Given the description of an element on the screen output the (x, y) to click on. 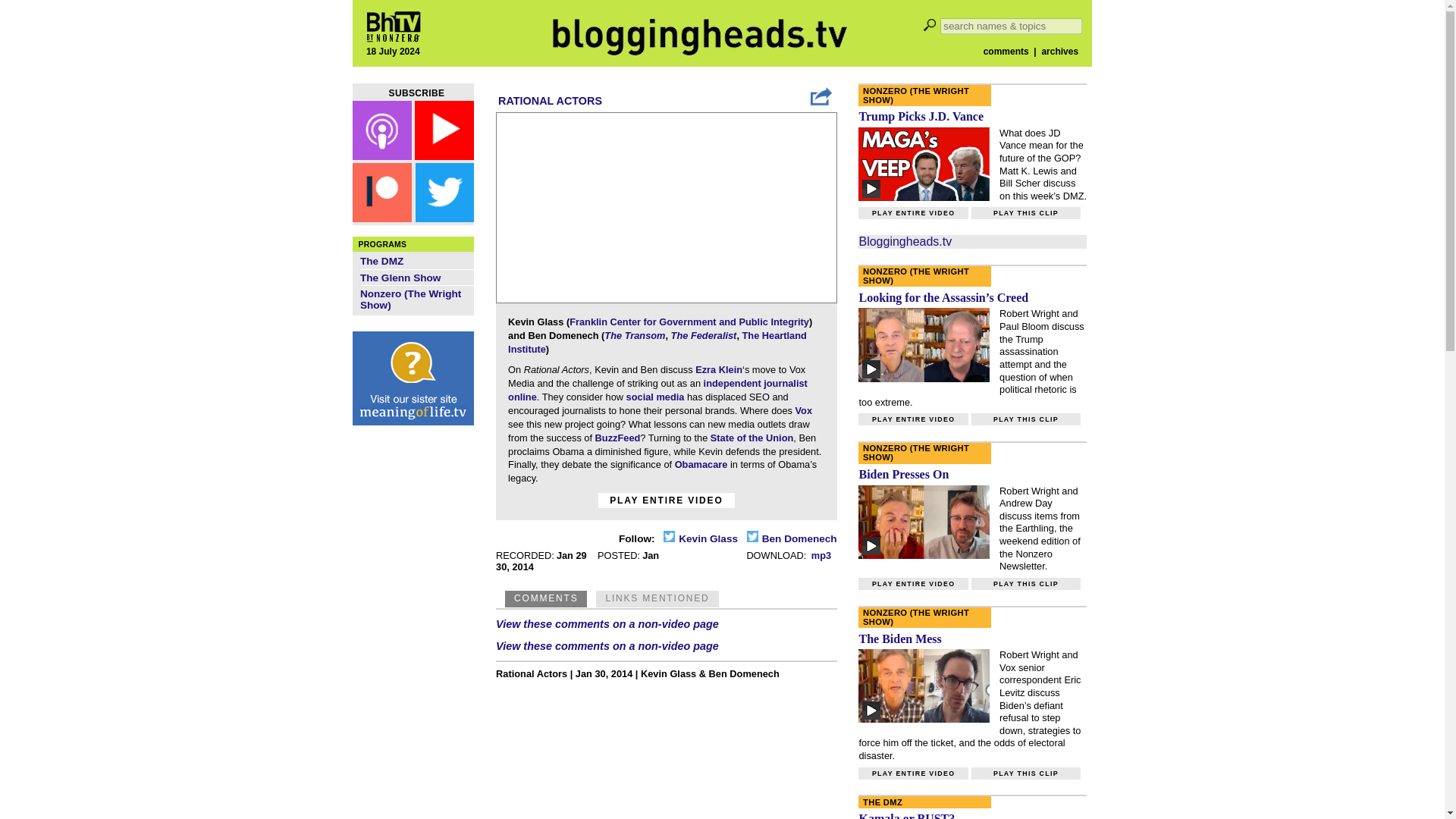
mp3 (820, 555)
The Heartland Institute (657, 342)
Franklin Center for Government and Public Integrity (689, 321)
The Transom (634, 335)
PLAY ENTIRE VIDEO (666, 500)
Ezra Klein (718, 369)
independent journalist online (658, 389)
BuzzFeed (617, 437)
subscribe via YouTube (444, 155)
State of the Union (751, 437)
Kevin Glass (698, 538)
COMMENTS (545, 597)
The Glenn Show (400, 277)
RATIONAL ACTORS (549, 101)
